Given the description of an element on the screen output the (x, y) to click on. 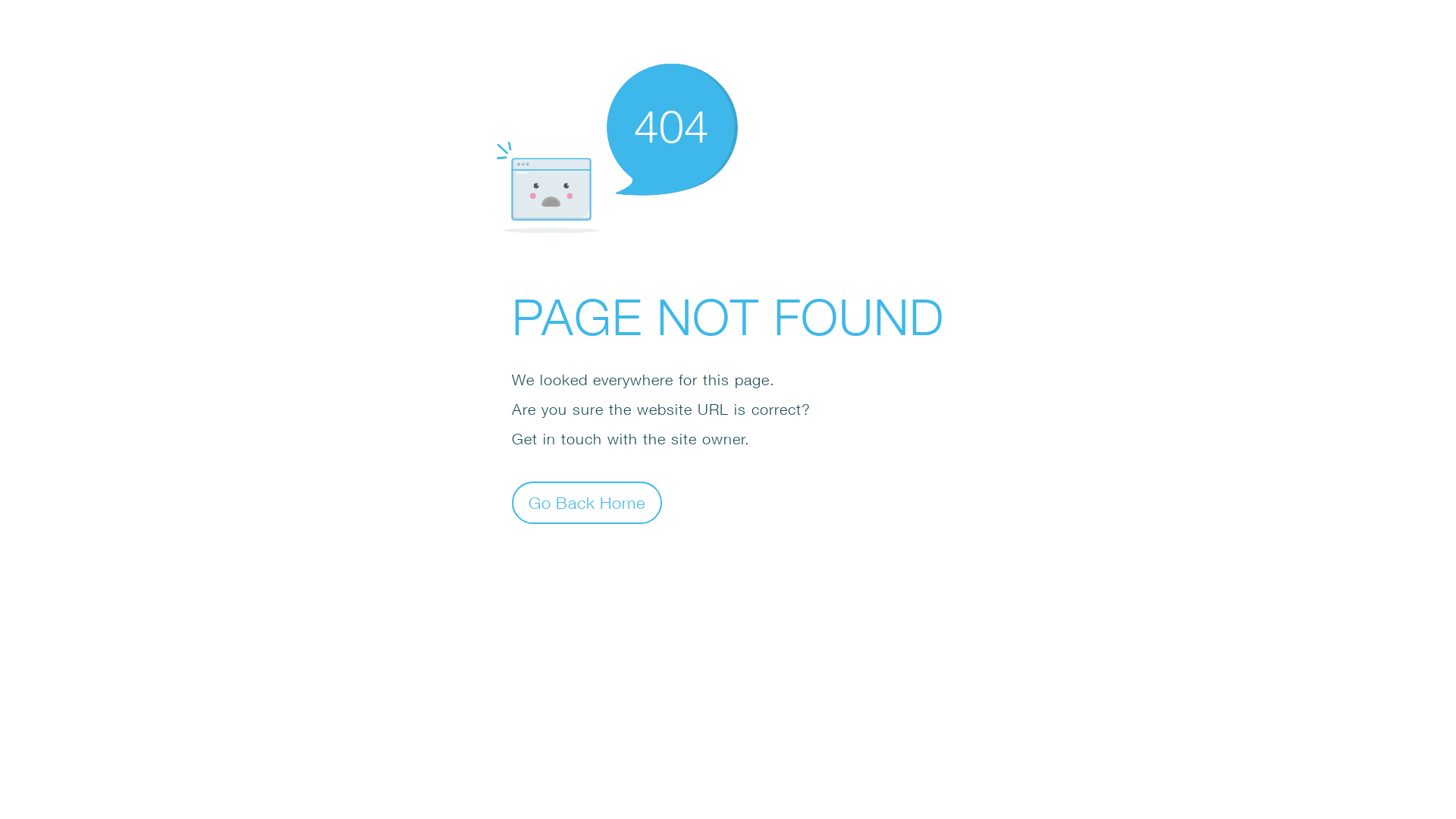
Go Back Home Element type: text (586, 502)
